Given the description of an element on the screen output the (x, y) to click on. 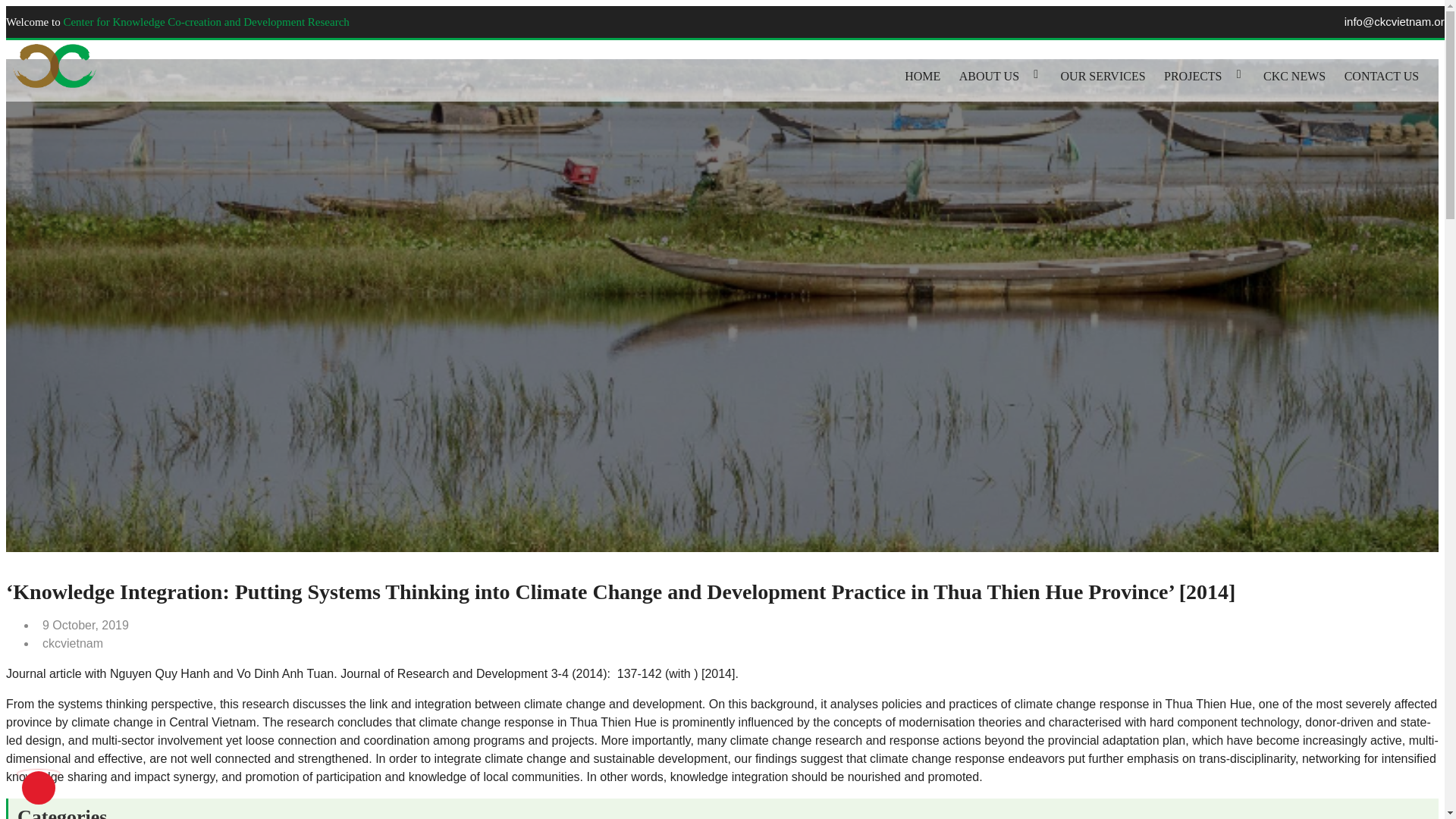
ABOUT US (989, 76)
CONTACT US (1381, 76)
HOME (921, 76)
CKC NEWS (1294, 76)
PROJECTS (1192, 76)
OUR SERVICES (1102, 76)
